Given the description of an element on the screen output the (x, y) to click on. 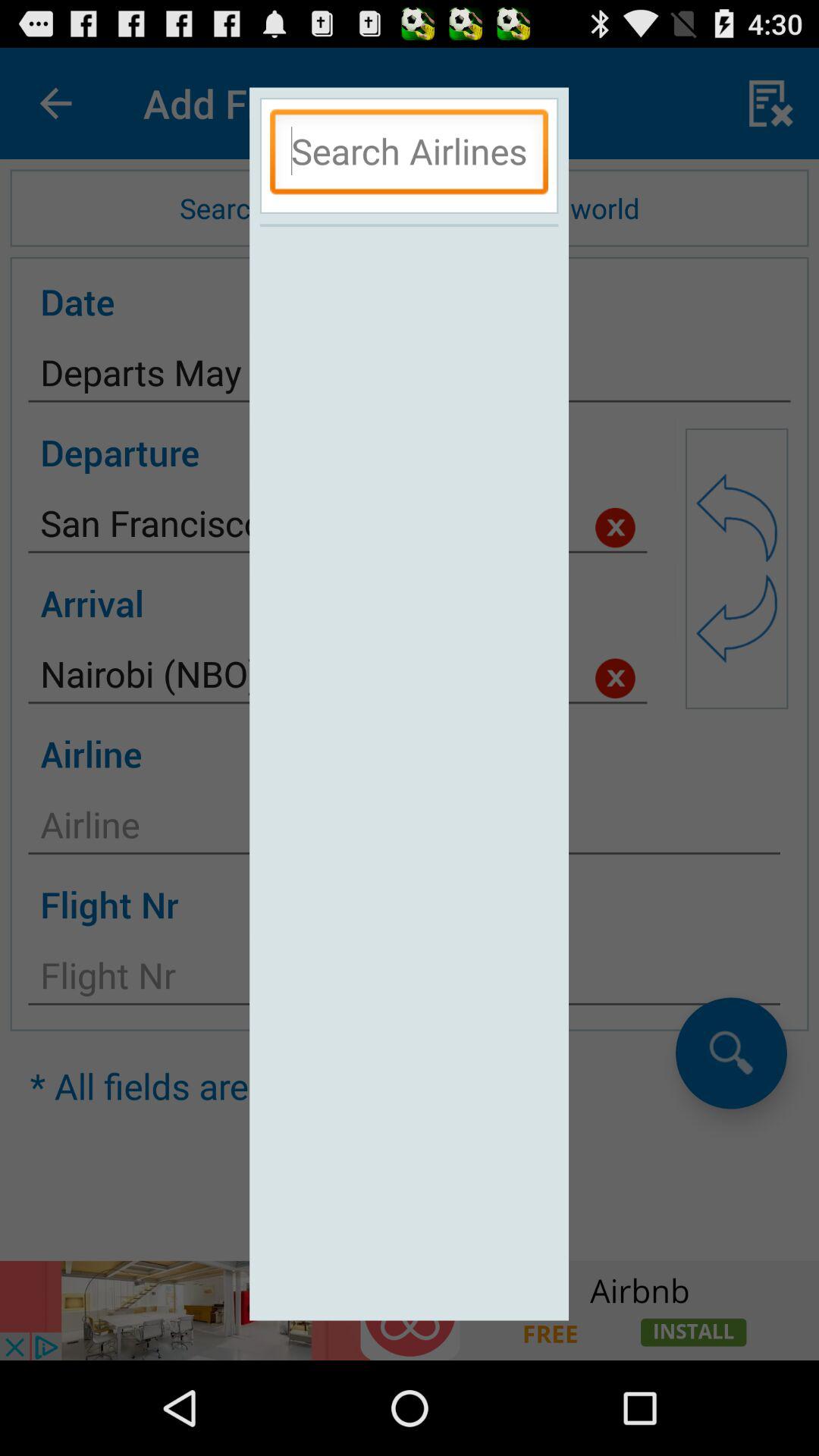
search (409, 155)
